Given the description of an element on the screen output the (x, y) to click on. 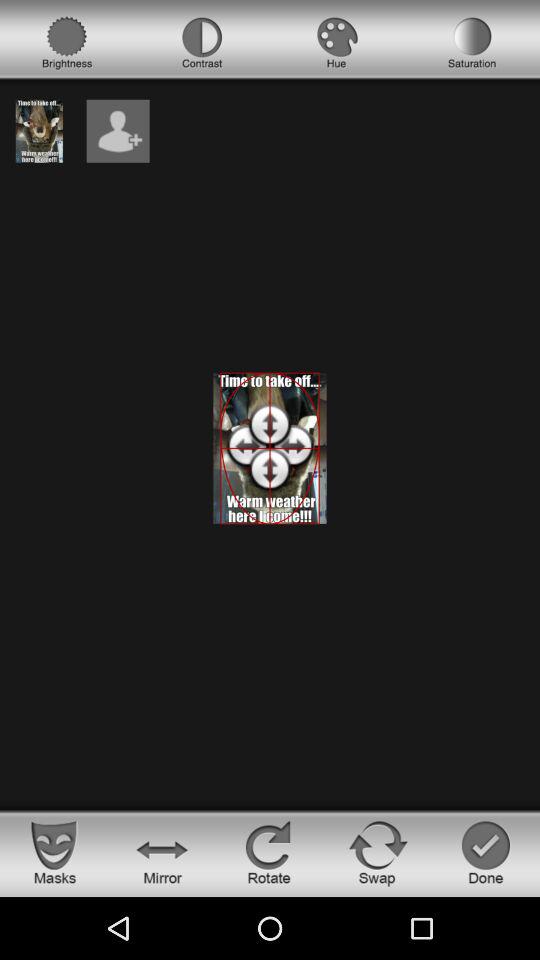
select satuation (472, 43)
